Given the description of an element on the screen output the (x, y) to click on. 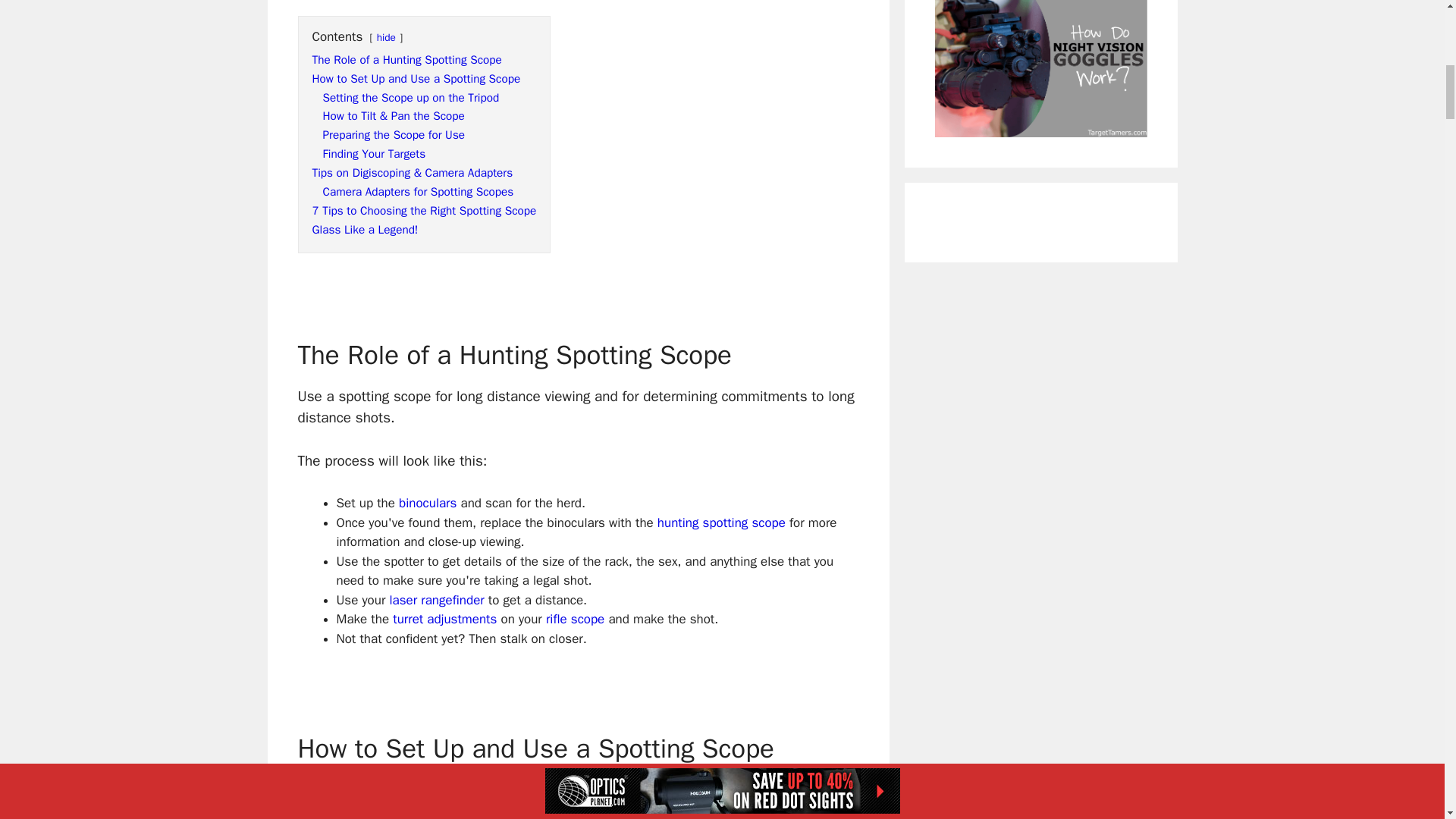
How Do Night Vision Goggles Work? (1040, 126)
